Given the description of an element on the screen output the (x, y) to click on. 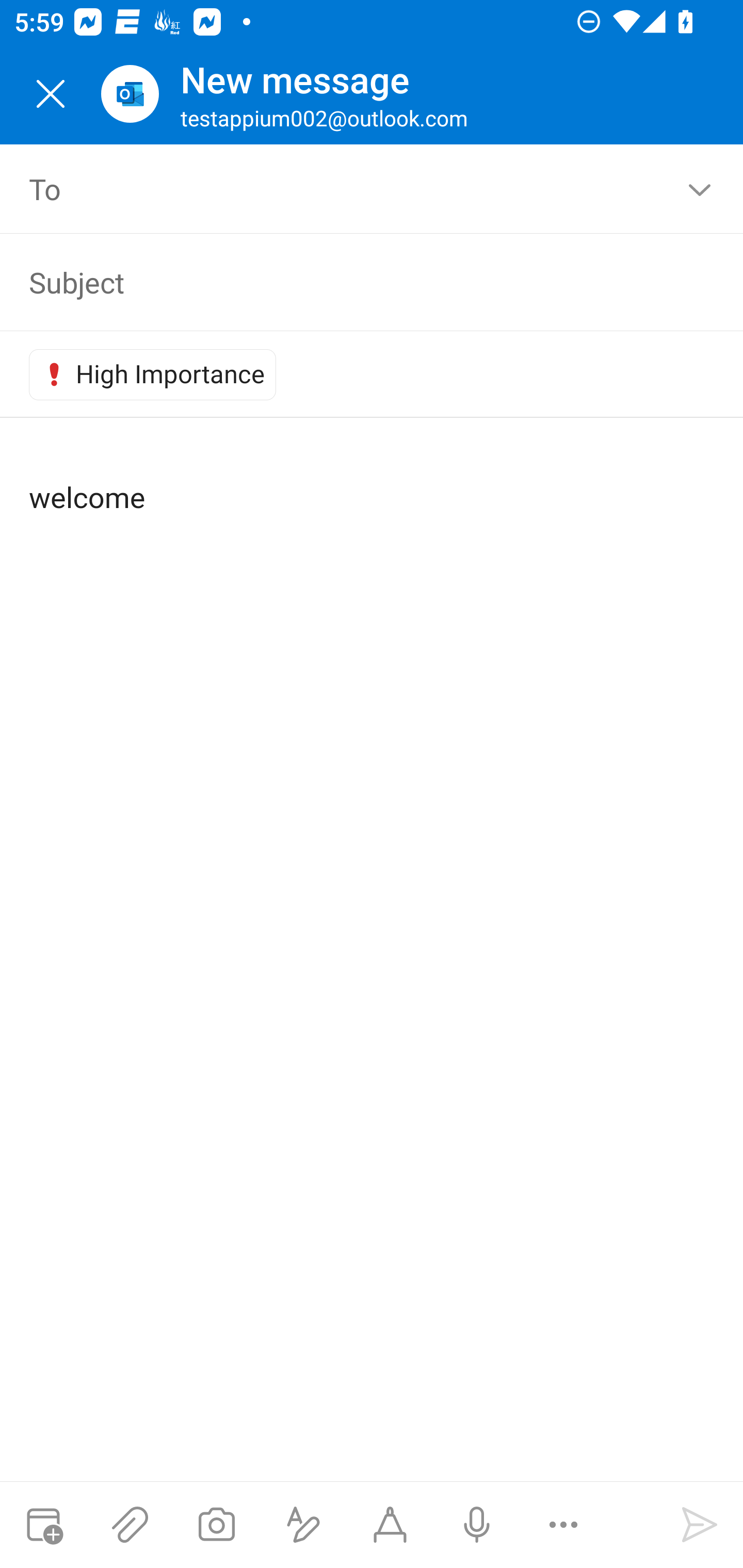
Close (50, 93)
Subject (357, 281)
High importance message High Importance (152, 374)

welcome (372, 480)
Attach meeting (43, 1524)
Attach files (129, 1524)
Take a photo (216, 1524)
Show formatting options (303, 1524)
Start Ink compose (389, 1524)
Dictation (476, 1524)
More options (563, 1524)
Send (699, 1524)
